Given the description of an element on the screen output the (x, y) to click on. 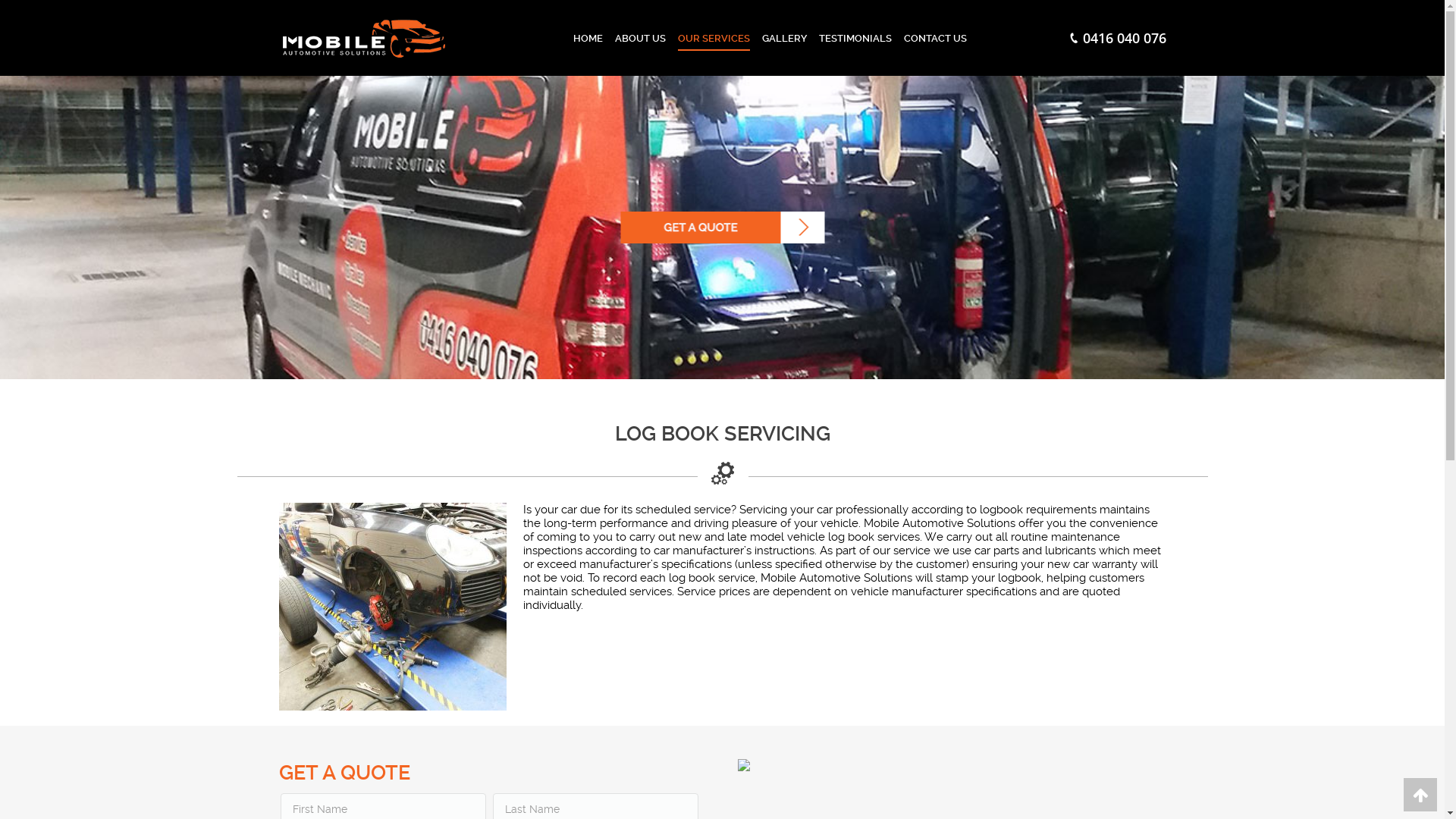
CONTACT US Element type: text (934, 37)
ABOUT US Element type: text (640, 37)
0416 040 076 Element type: text (1116, 37)
OUR SERVICES Element type: text (713, 37)
HOME Element type: text (587, 37)
GALLERY Element type: text (784, 37)
TESTIMONIALS Element type: text (855, 37)
